Given the description of an element on the screen output the (x, y) to click on. 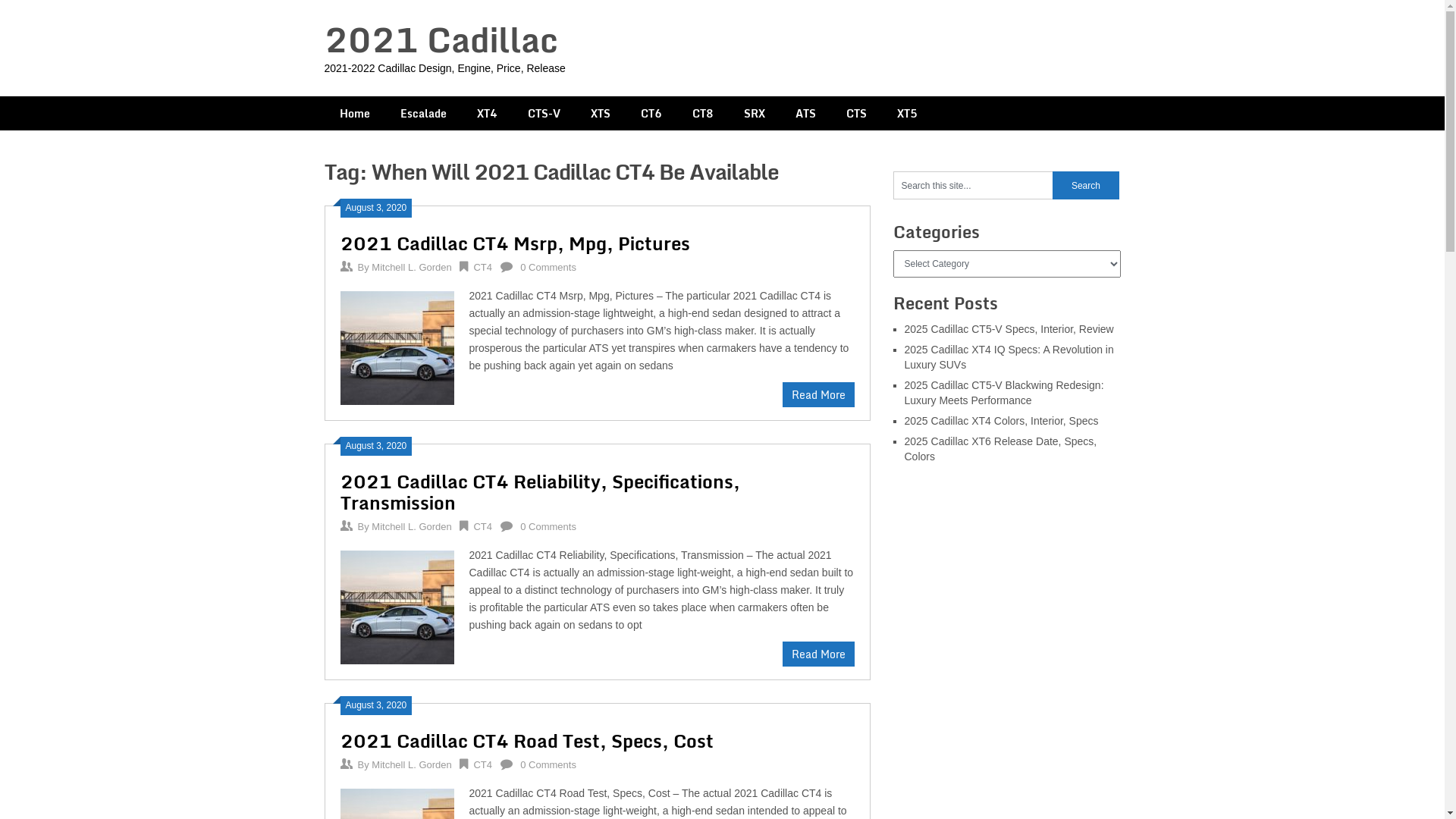
2021 Cadillac CT4 Reliability, Specifications, Transmission Element type: text (539, 491)
Read More Element type: text (818, 394)
2021 Cadillac CT4 Msrp, Mpg, Pictures Element type: hover (396, 345)
ATS Element type: text (804, 113)
2025 Cadillac XT4 Colors, Interior, Specs Element type: text (1000, 420)
CT4 Element type: text (482, 764)
SRX Element type: text (753, 113)
CTS Element type: text (856, 113)
Home Element type: text (354, 113)
CT4 Element type: text (482, 526)
CT8 Element type: text (702, 113)
2021 Cadillac CT4 Reliability, Specifications, Transmission Element type: hover (396, 605)
2025 Cadillac XT4 IQ Specs: A Revolution in Luxury SUVs Element type: text (1008, 356)
XTS Element type: text (599, 113)
2025 Cadillac XT6 Release Date, Specs, Colors Element type: text (999, 448)
XT5 Element type: text (906, 113)
0 Comments Element type: text (548, 764)
CT4 Element type: text (482, 267)
2025 Cadillac CT5-V Specs, Interior, Review Element type: text (1008, 329)
0 Comments Element type: text (548, 267)
CT6 Element type: text (650, 113)
Mitchell L. Gorden Element type: text (411, 526)
2021 Cadillac Element type: text (441, 39)
Escalade Element type: text (423, 113)
0 Comments Element type: text (548, 526)
2021 Cadillac CT4 Msrp, Mpg, Pictures Element type: text (514, 242)
Mitchell L. Gorden Element type: text (411, 764)
XT4 Element type: text (486, 113)
Search Element type: text (1086, 185)
Mitchell L. Gorden Element type: text (411, 267)
Read More Element type: text (818, 653)
2021 Cadillac CT4 Road Test, Specs, Cost Element type: text (525, 740)
CTS-V Element type: text (543, 113)
